Given the description of an element on the screen output the (x, y) to click on. 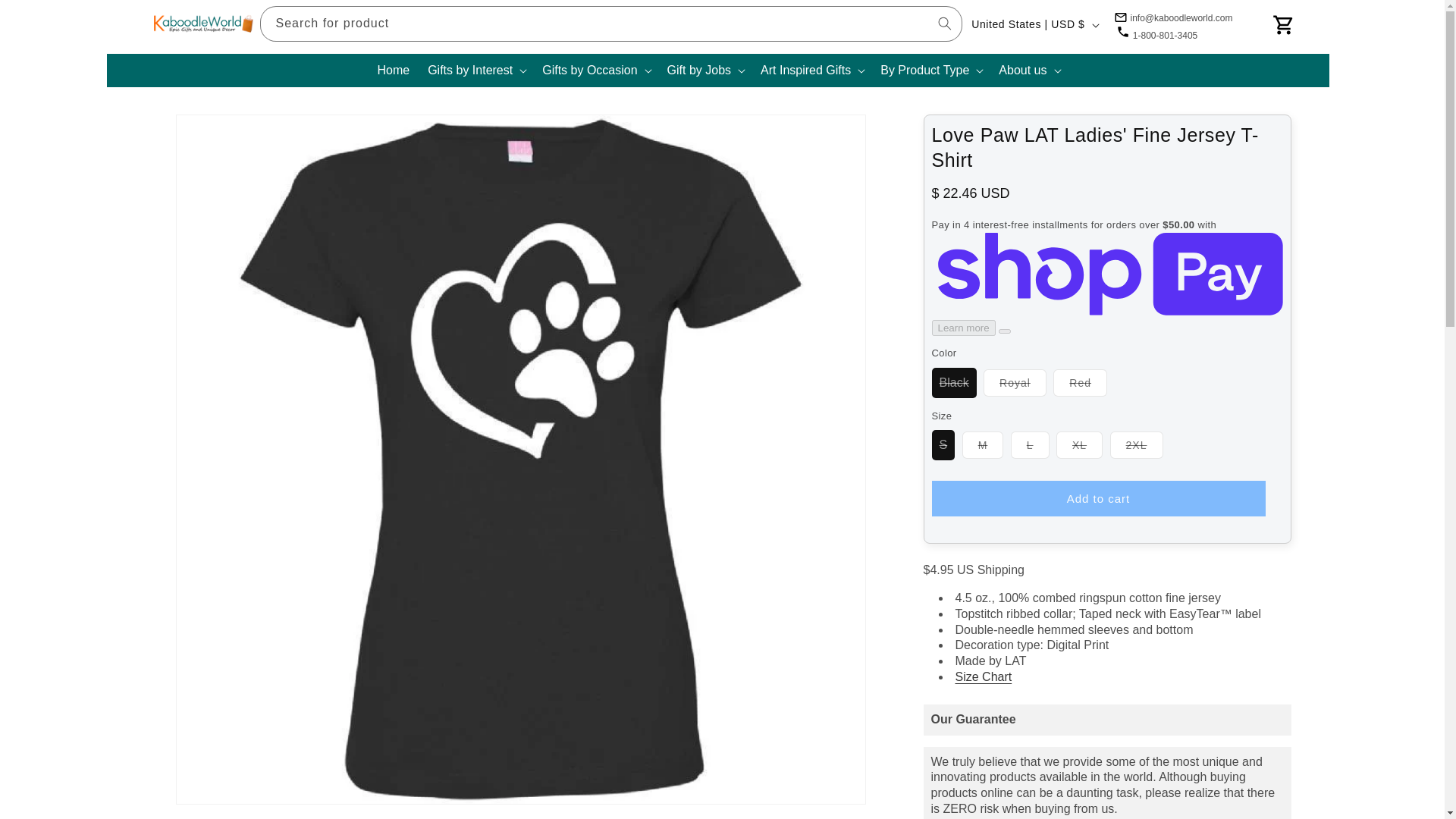
Skip to content (45, 17)
